Given the description of an element on the screen output the (x, y) to click on. 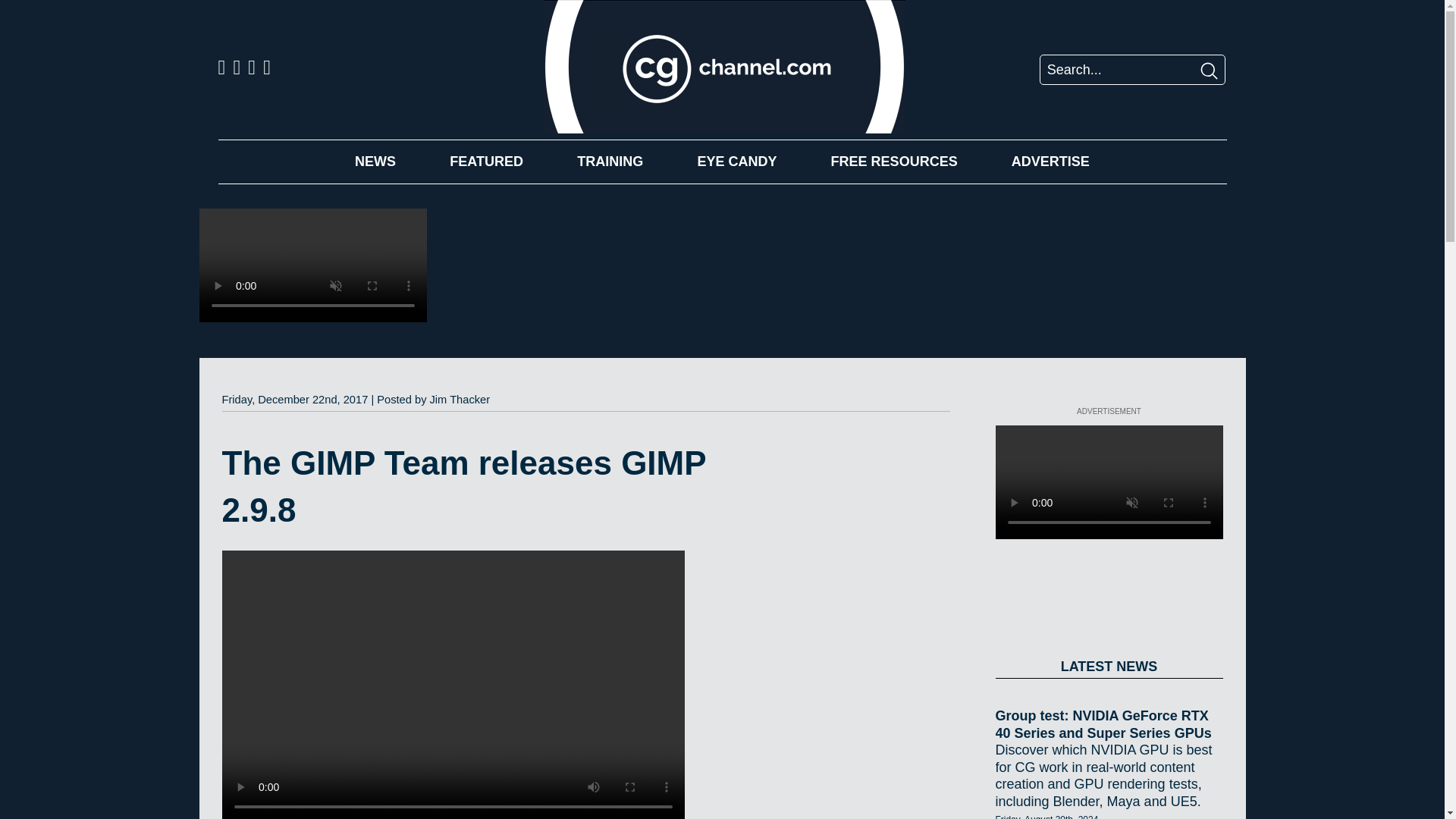
NEWS (375, 160)
FEATURED (485, 160)
ADVERTISE (1050, 160)
EYE CANDY (736, 160)
FREE RESOURCES (894, 160)
TRAINING (609, 160)
